Given the description of an element on the screen output the (x, y) to click on. 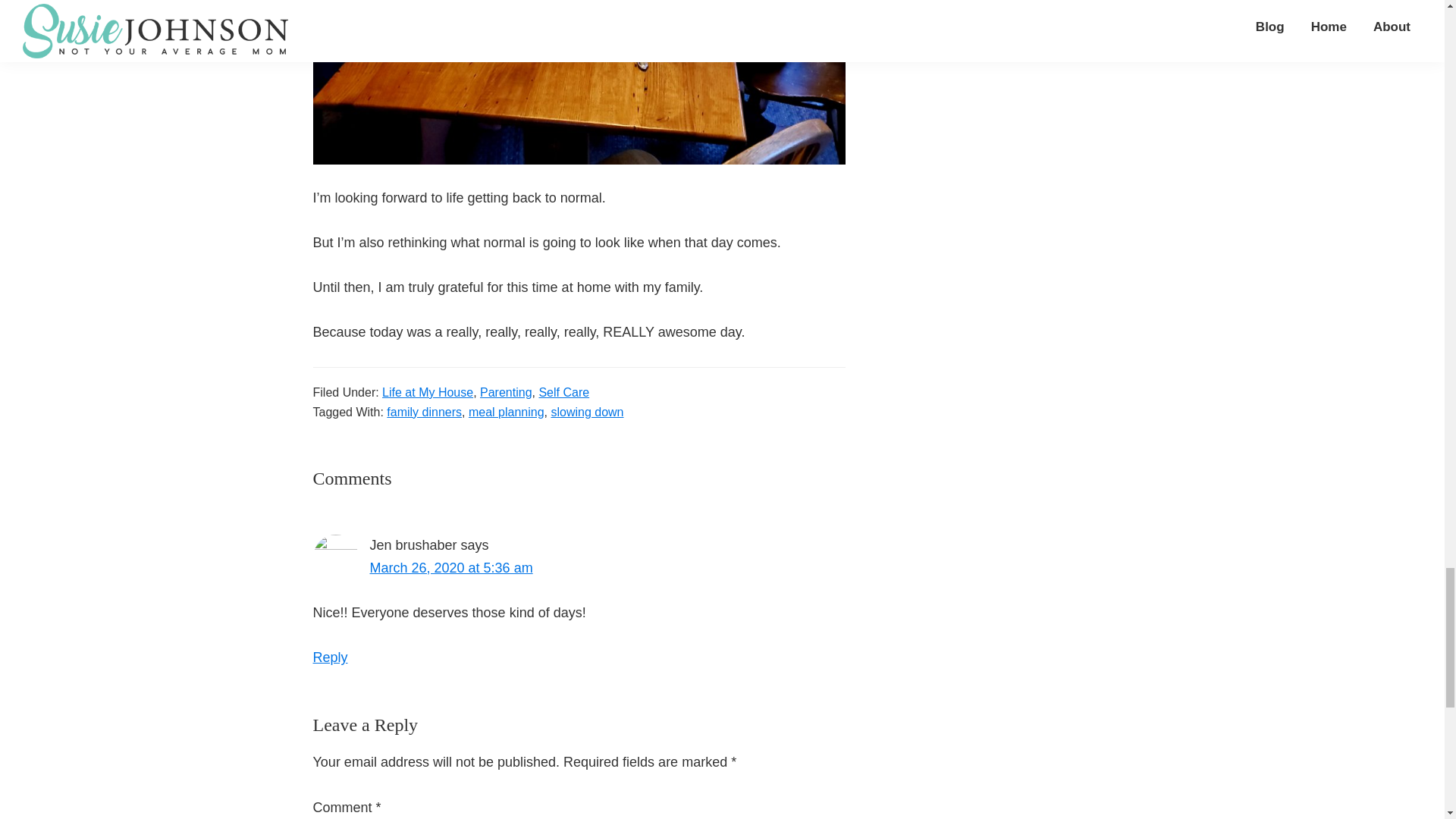
Self Care (563, 391)
family dinners (424, 411)
slowing down (586, 411)
Life at My House (427, 391)
March 26, 2020 at 5:36 am (450, 567)
Parenting (506, 391)
meal planning (506, 411)
Reply (330, 657)
